Given the description of an element on the screen output the (x, y) to click on. 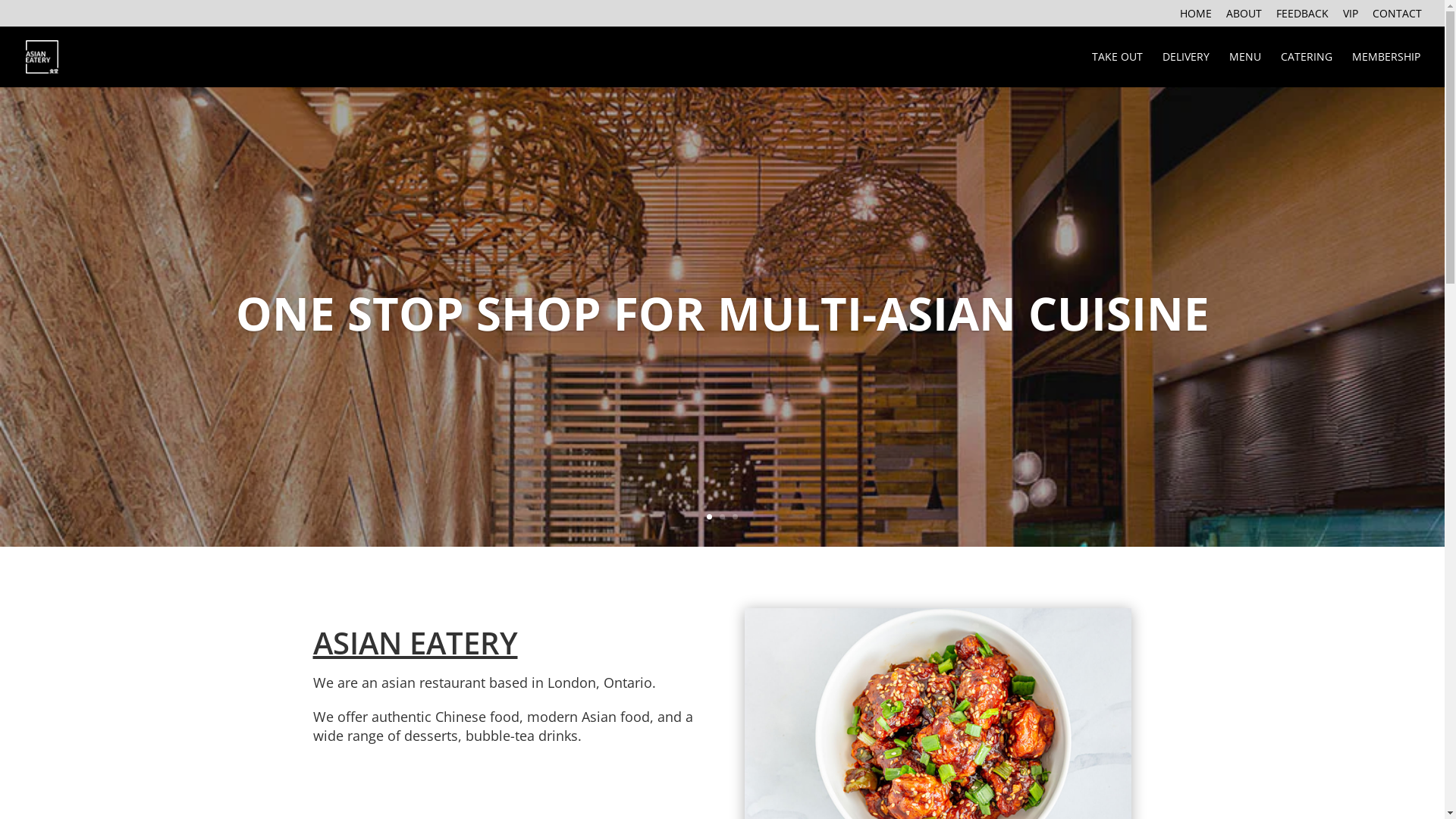
CATERING Element type: text (1306, 69)
ABOUT Element type: text (1243, 16)
CONTACT Element type: text (1396, 16)
1 Element type: text (709, 516)
VIP Element type: text (1350, 16)
TAKE OUT Element type: text (1117, 69)
HOME Element type: text (1195, 16)
DELIVERY Element type: text (1185, 69)
2 Element type: text (721, 516)
MENU Element type: text (1245, 69)
3 Element type: text (734, 516)
FEEDBACK Element type: text (1302, 16)
MEMBERSHIP Element type: text (1386, 69)
